Given the description of an element on the screen output the (x, y) to click on. 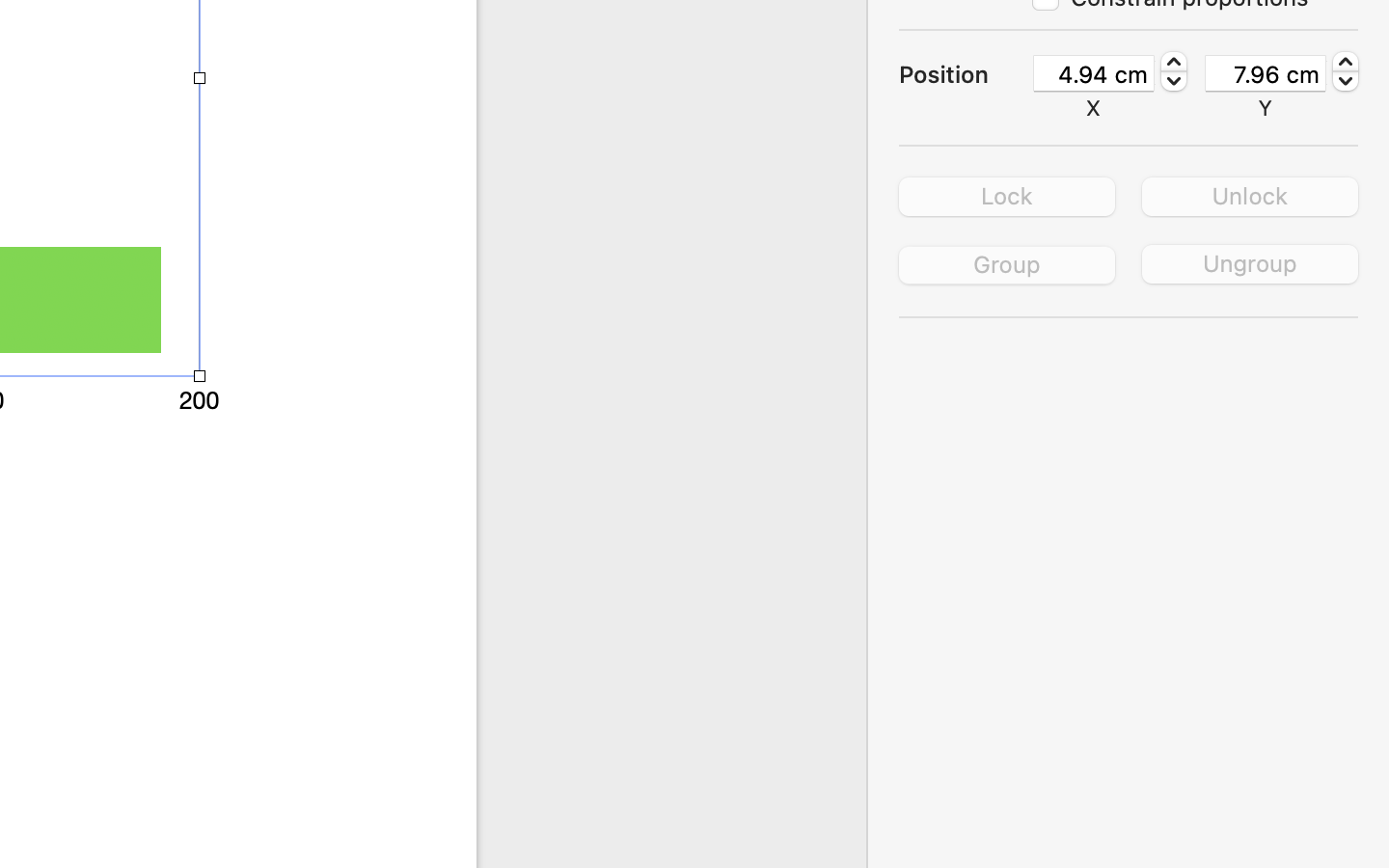
Y Element type: AXStaticText (1265, 107)
Position Element type: AXStaticText (964, 73)
140.00496643066407 Element type: AXIncrementor (1173, 71)
4.94 cm Element type: AXTextField (1093, 73)
7.96 cm Element type: AXTextField (1265, 73)
